Given the description of an element on the screen output the (x, y) to click on. 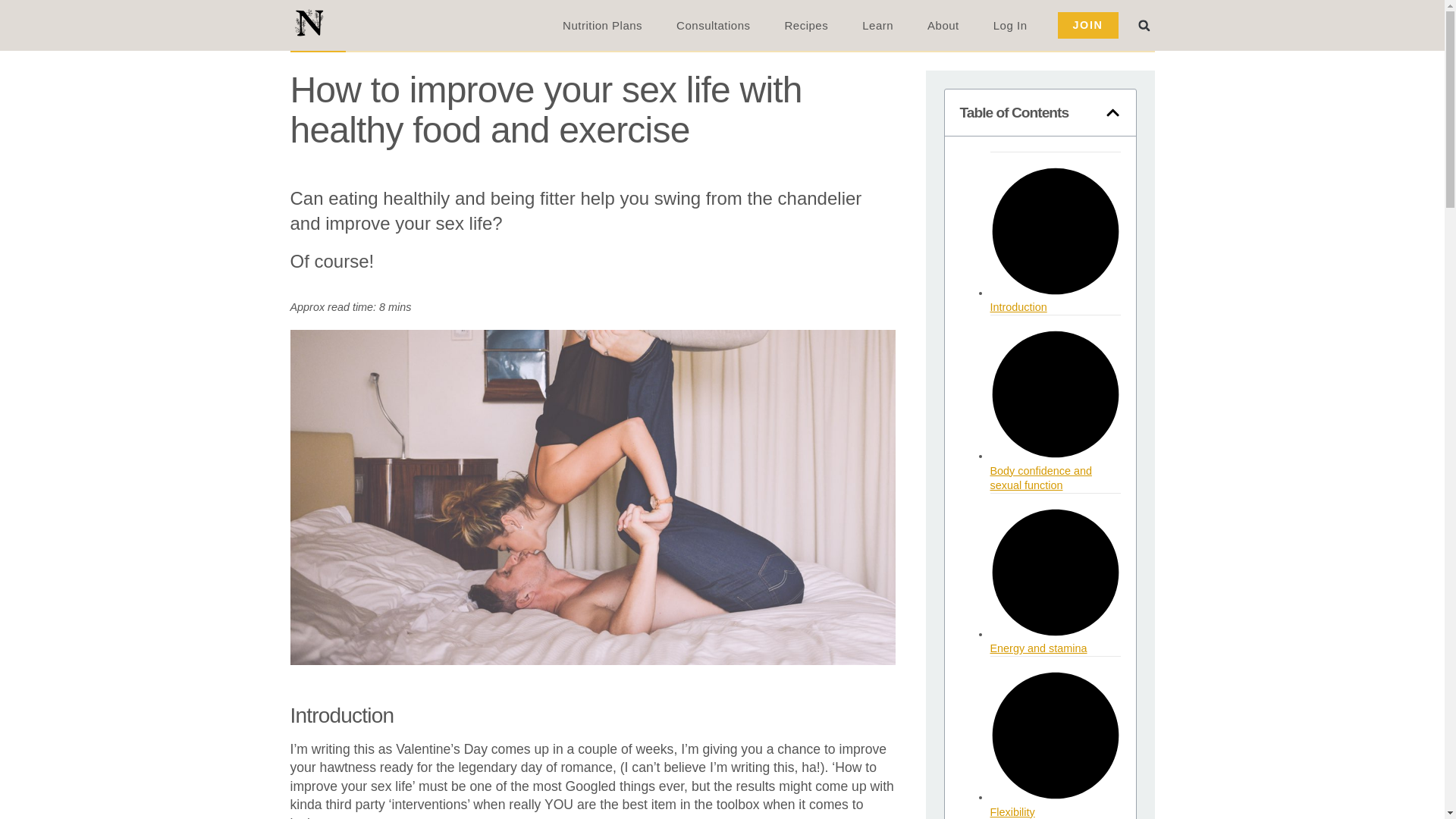
Energy and stamina (1038, 648)
Nutrition Plans (602, 24)
JOIN (1087, 24)
Flexibility (1012, 811)
Introduction (1018, 306)
Log In (1010, 24)
Body confidence and sexual function (1041, 478)
Consultations (713, 24)
Learn (877, 24)
Recipes (805, 24)
